Given the description of an element on the screen output the (x, y) to click on. 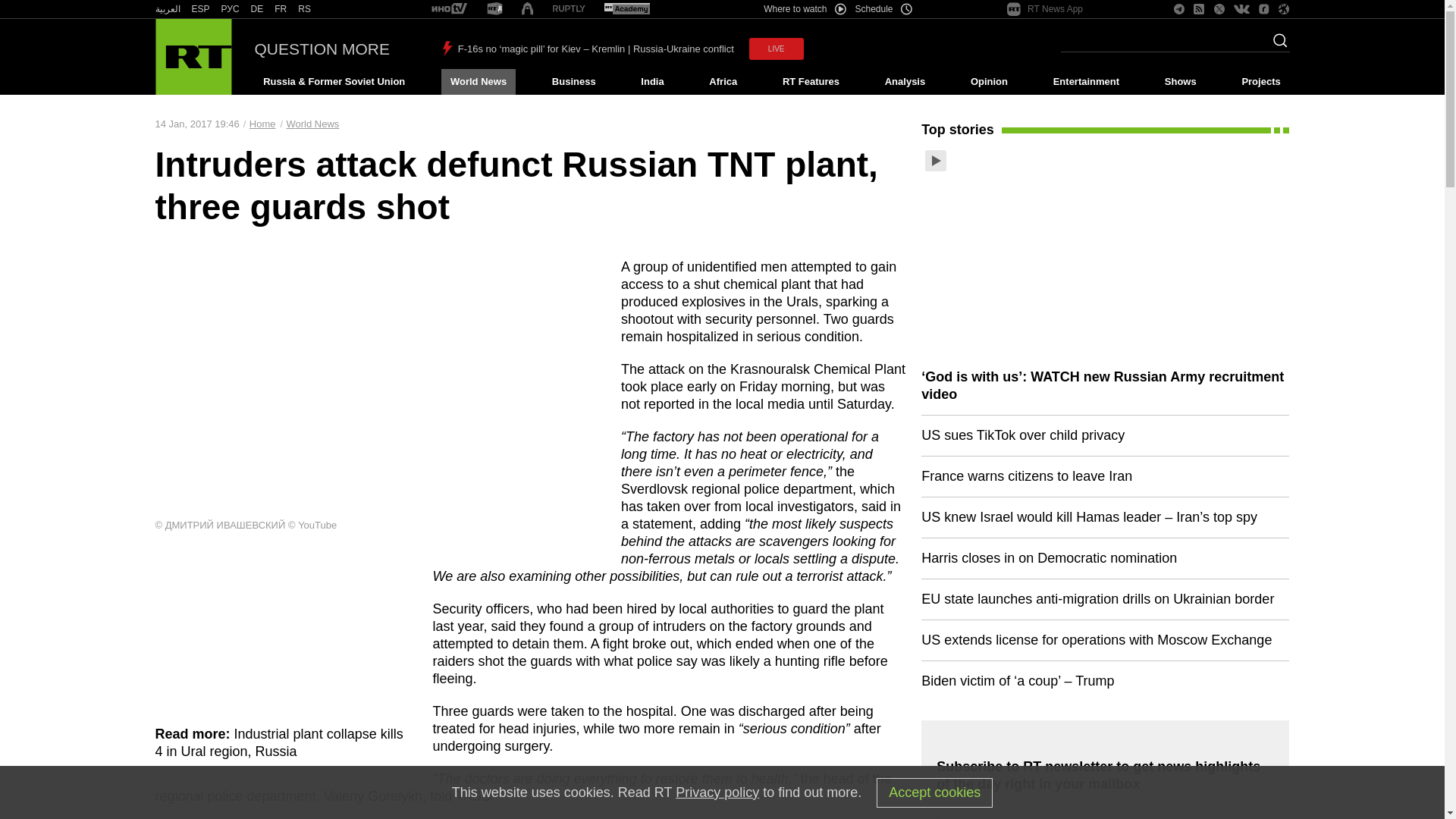
Analysis (905, 81)
World News (478, 81)
Where to watch (803, 9)
RT News App (1045, 9)
RT  (448, 9)
Entertainment (1085, 81)
RS (304, 9)
LIVE (776, 48)
RT Features (810, 81)
Search (1276, 44)
RT  (199, 9)
Search (1276, 44)
Africa (722, 81)
Opinion (988, 81)
QUESTION MORE (322, 48)
